Given the description of an element on the screen output the (x, y) to click on. 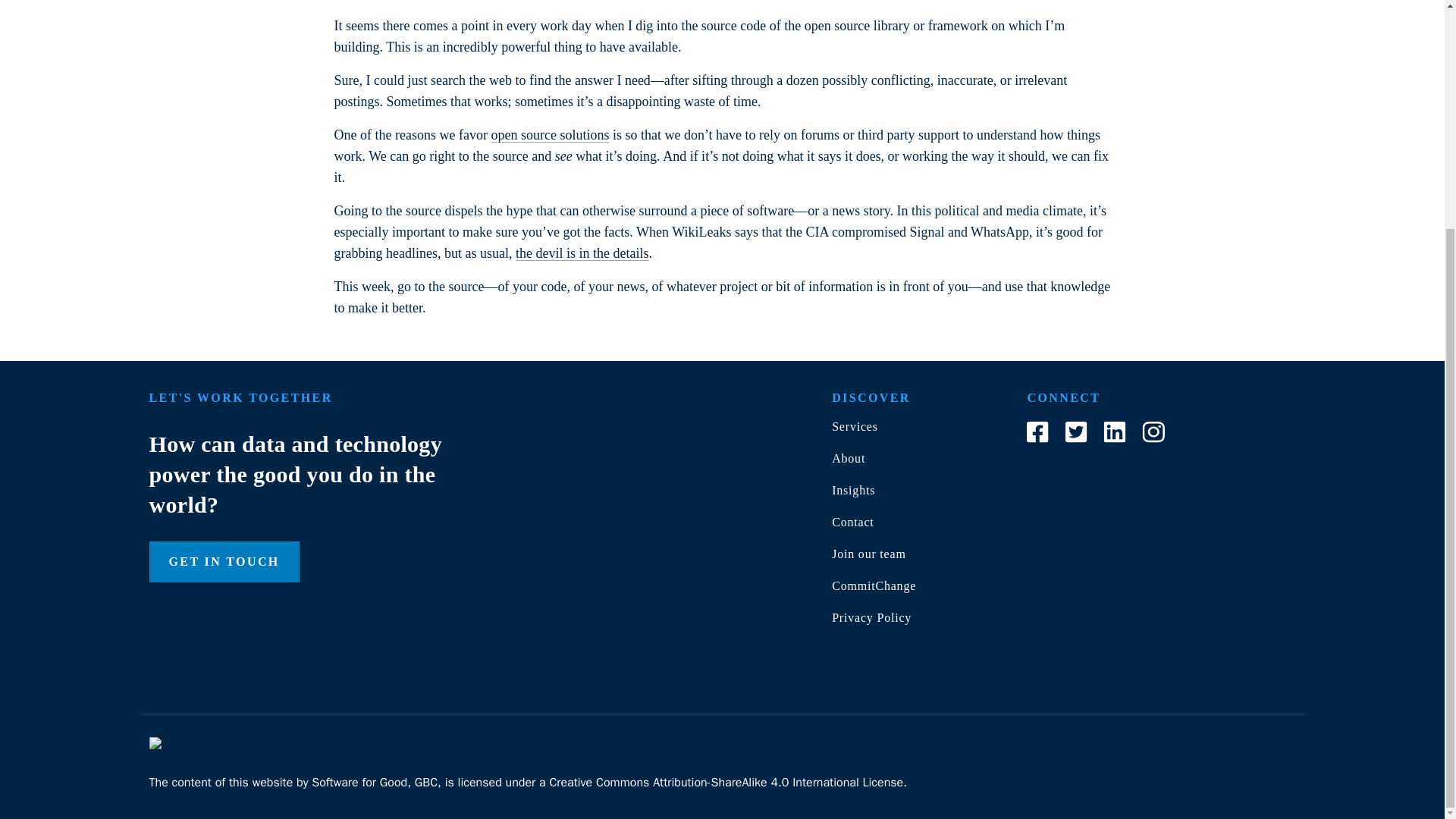
Insights (853, 490)
the devil is in the details (581, 253)
open source solutions (549, 134)
CommitChange (873, 585)
Join our team (868, 553)
Contact (852, 521)
Software for Good, GBC, (376, 782)
Services (854, 426)
Privacy Policy (871, 617)
About (847, 458)
GET IN TOUCH (223, 561)
